Given the description of an element on the screen output the (x, y) to click on. 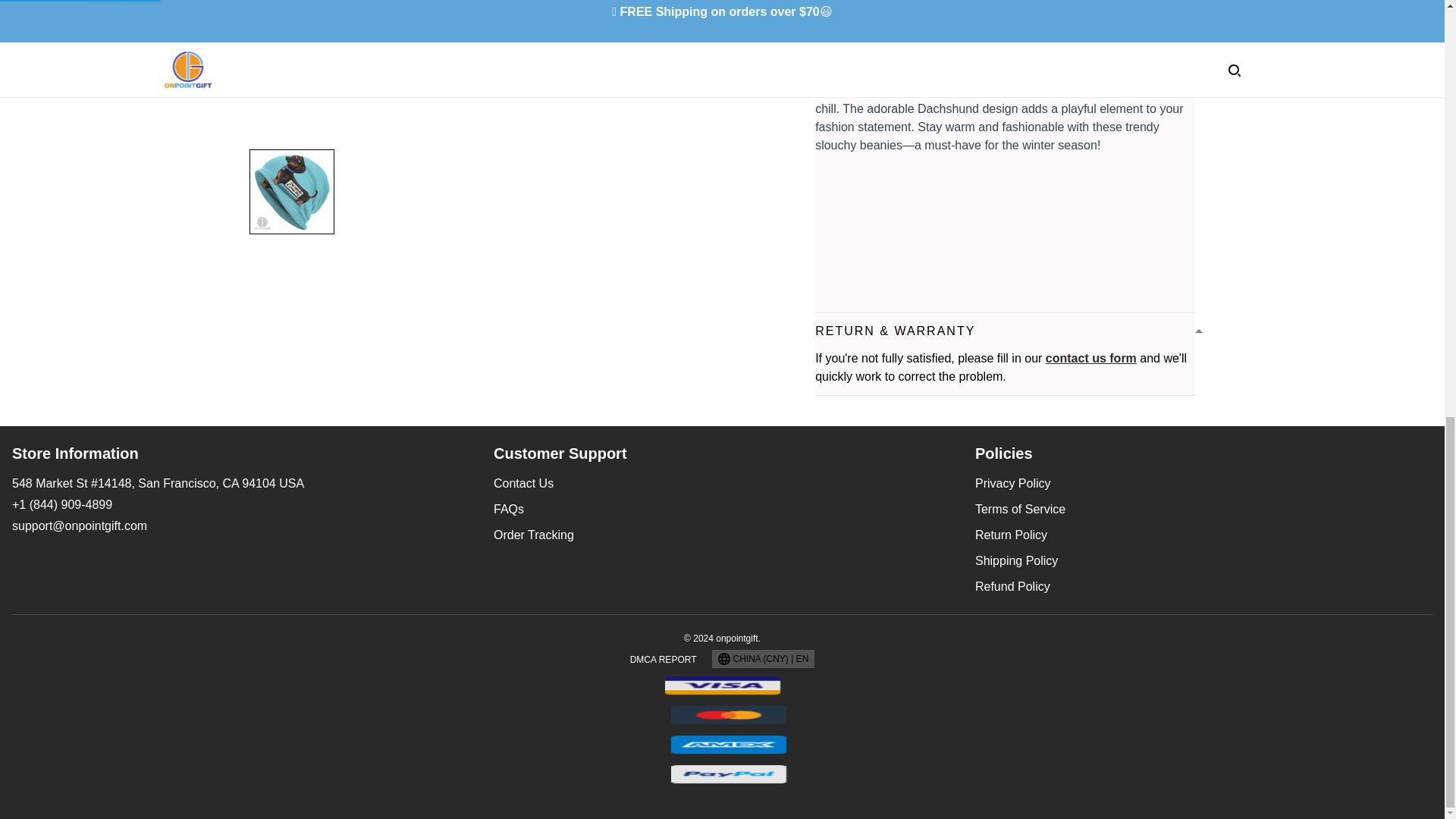
DMCA REPORT (663, 659)
Shipping Policy (1016, 560)
Contact Us (523, 482)
FAQs (508, 508)
Return Policy (1010, 534)
Privacy Policy (1013, 482)
contact us form (1091, 358)
Refund Policy (1012, 585)
Order Tracking (533, 534)
Terms of Service (1020, 508)
